Given the description of an element on the screen output the (x, y) to click on. 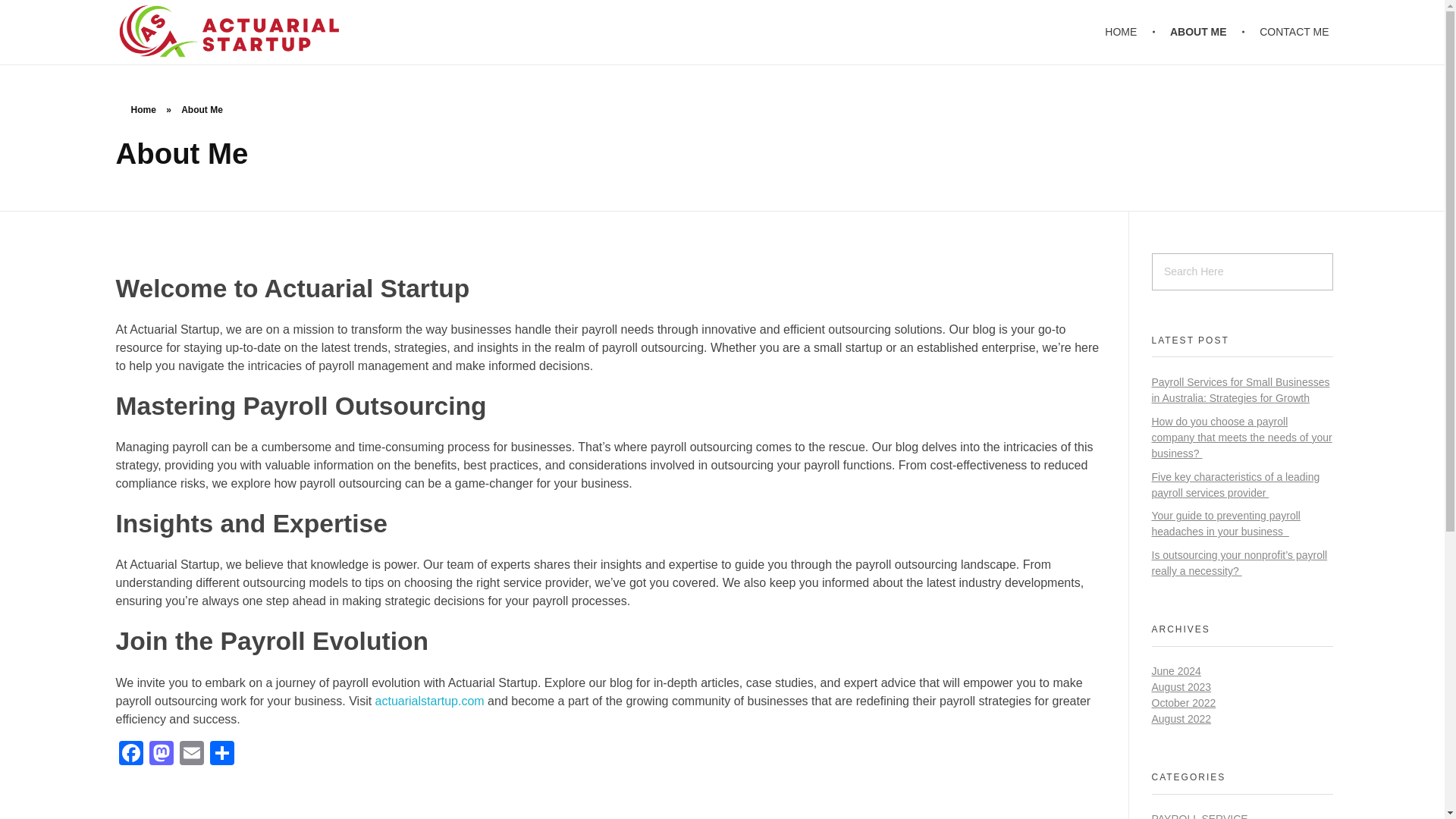
HOME (1130, 32)
ABOUT ME (1201, 32)
June 2024 (1175, 671)
Email (191, 755)
CONTACT ME (1287, 32)
Search (42, 13)
Home (143, 109)
Facebook (130, 755)
Email (191, 755)
Mastodon (160, 755)
PAYROLL SERVICE (1199, 816)
